Given the description of an element on the screen output the (x, y) to click on. 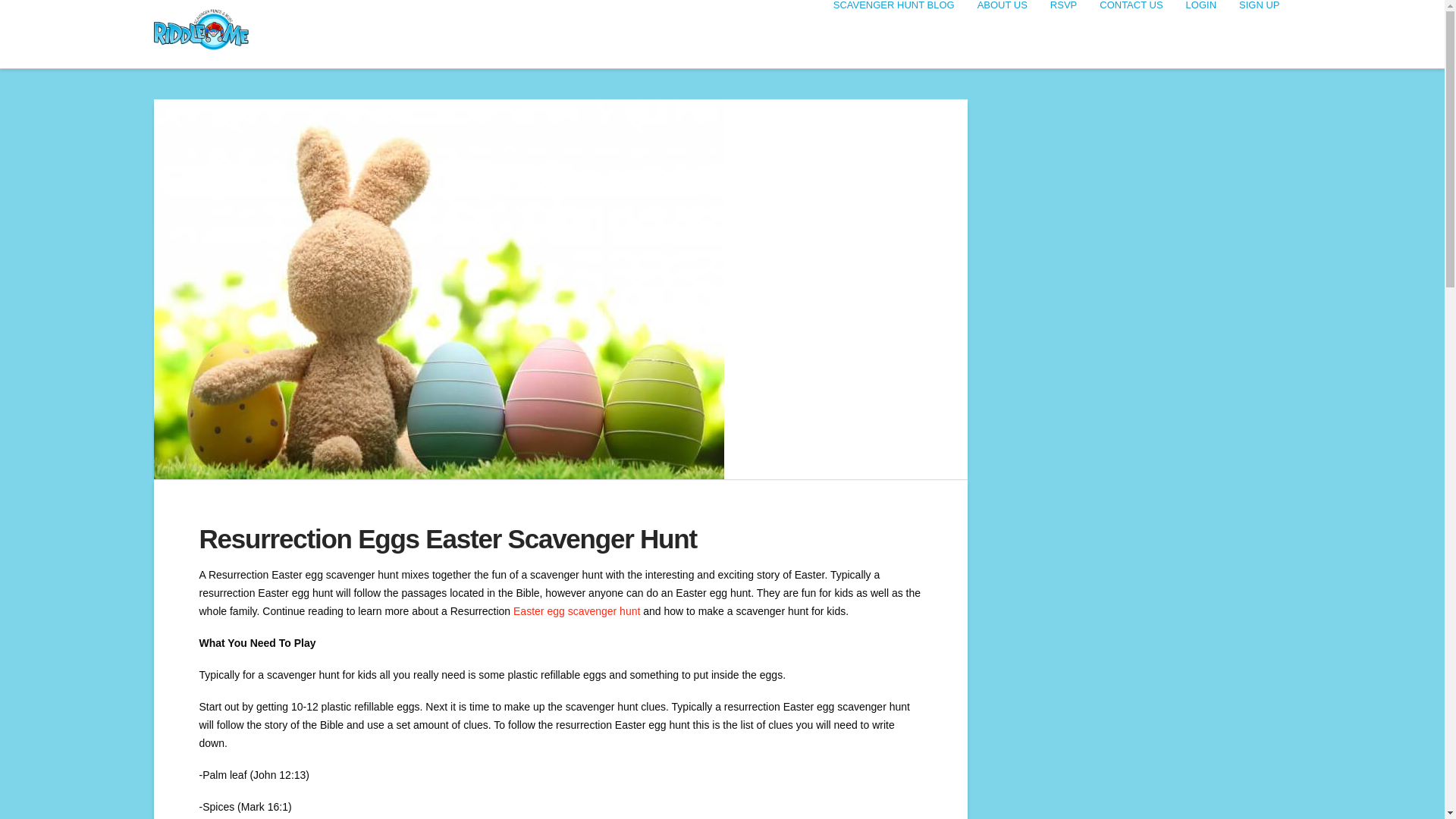
ABOUT US (1002, 33)
CONTACT US (1130, 33)
RSVP (1063, 33)
SIGN UP (1258, 33)
LOGIN (1200, 33)
Easter egg scavenger hunt (576, 611)
SCAVENGER HUNT BLOG (894, 33)
